Given the description of an element on the screen output the (x, y) to click on. 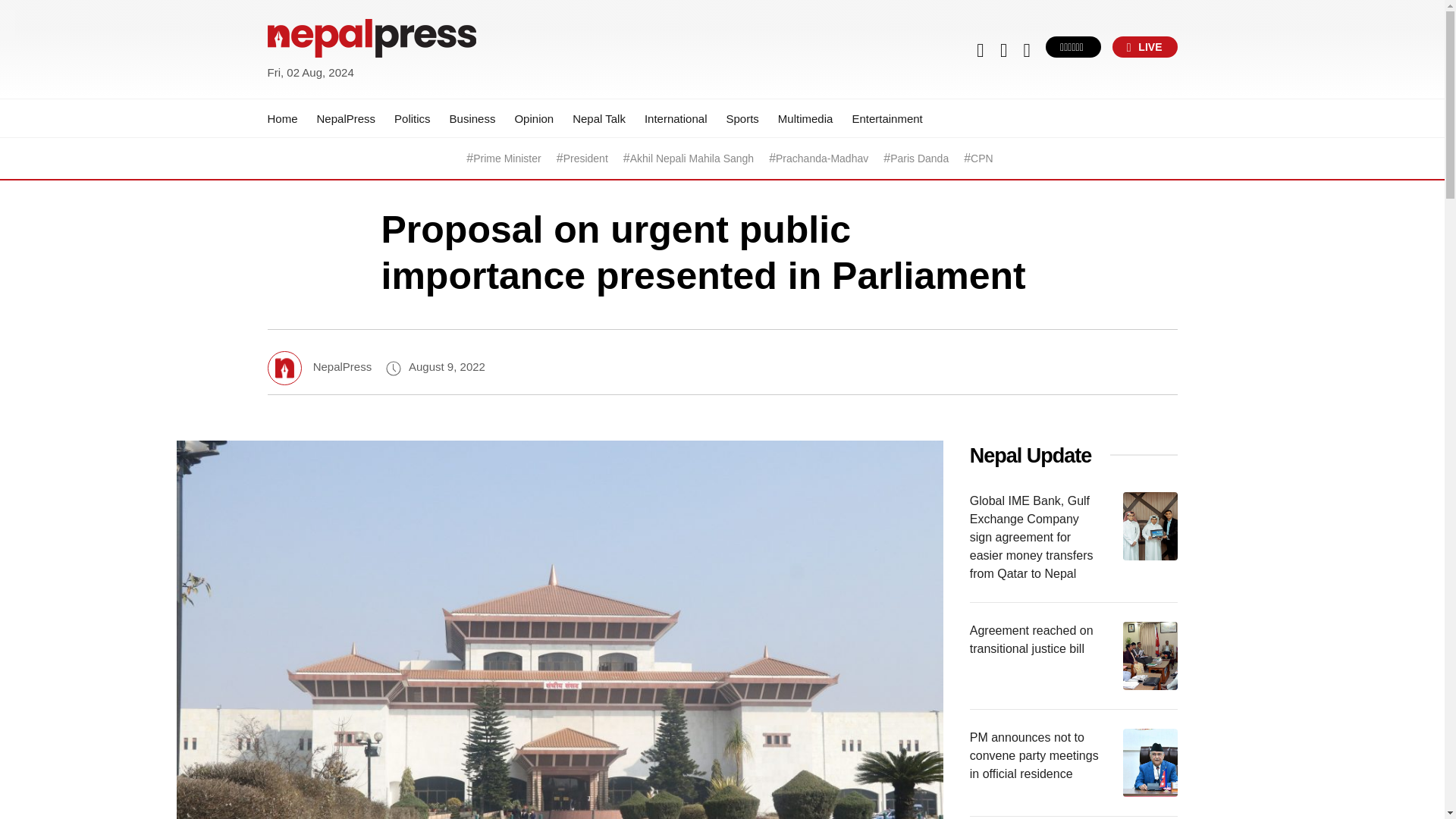
President (585, 158)
CPN (981, 158)
Multimedia (804, 118)
Prachanda-Madhav (821, 158)
Nepal Talk (599, 118)
Akhil Nepali Mahila Sangh (692, 158)
Prime Minister (506, 158)
LIVE (1144, 46)
Nepal Press (303, 91)
Opinion (533, 118)
Akhil Nepali Mahila Sangh (692, 158)
Politics (412, 118)
CPN (981, 158)
Paris Danda (919, 158)
NepalPress (346, 118)
